Given the description of an element on the screen output the (x, y) to click on. 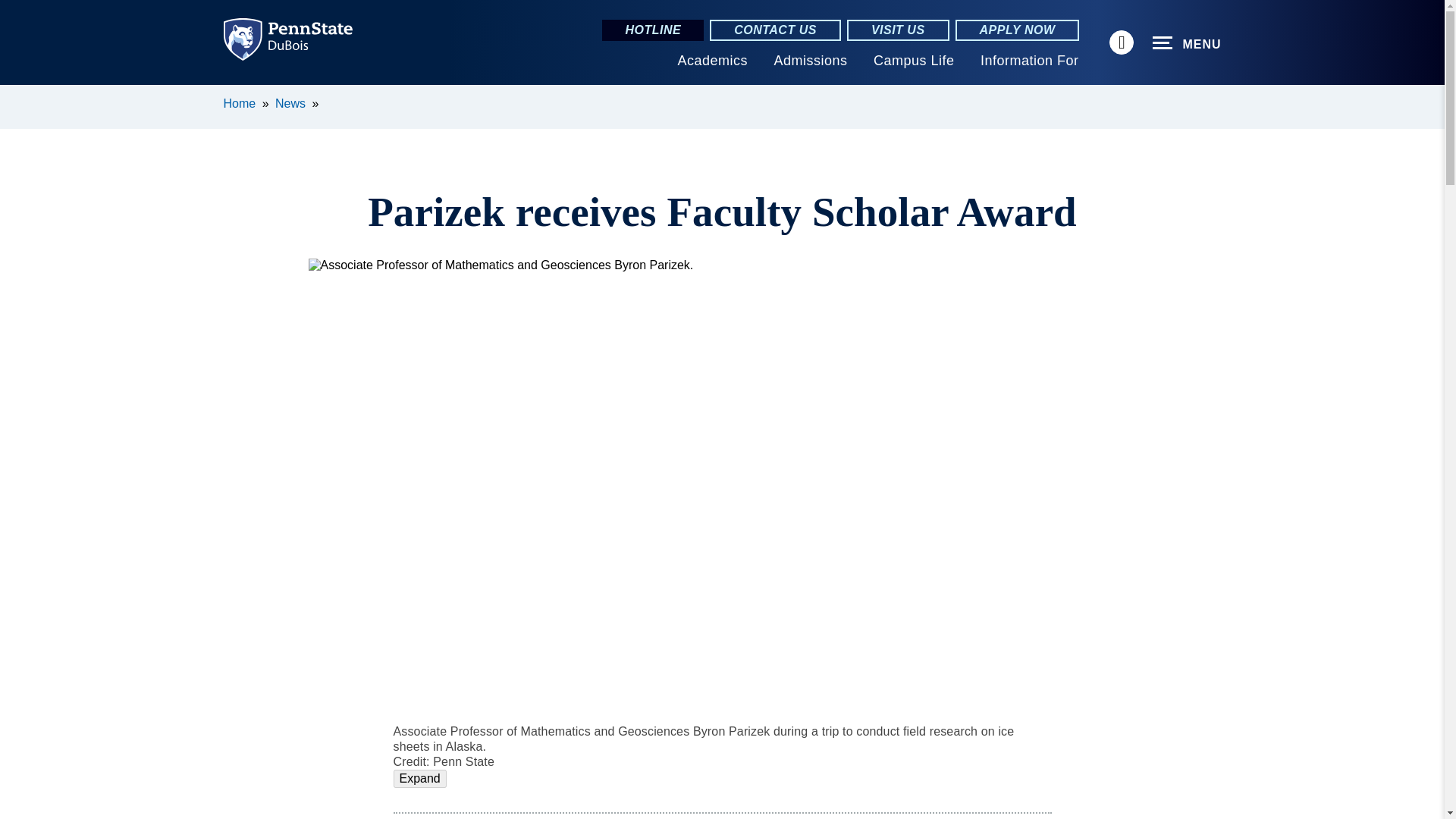
SKIP TO MAIN CONTENT (19, 95)
CONTACT US (775, 29)
Academics (712, 60)
VISIT US (898, 29)
APPLY NOW (1017, 29)
MENU (1187, 43)
HOTLINE (652, 29)
Information For (1028, 60)
Campus Life (914, 60)
Admissions (810, 60)
